Given the description of an element on the screen output the (x, y) to click on. 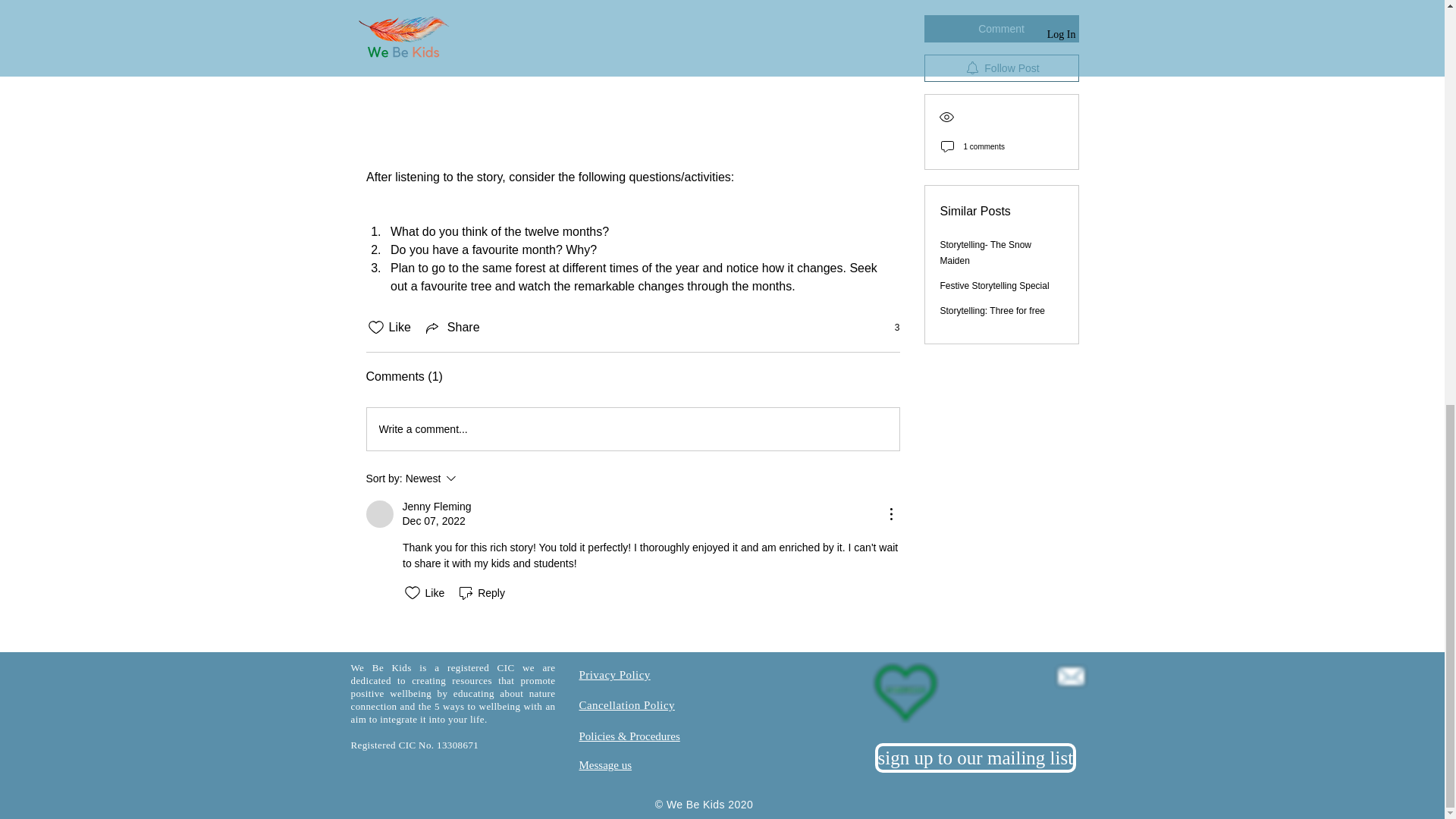
Jenny Fleming (435, 506)
Message us (471, 478)
Jenny Fleming (605, 765)
Privacy Policy (379, 513)
Cancellation Policy (614, 674)
Share (627, 705)
Like (451, 327)
Write a comment... (387, 327)
3 (632, 428)
Reply (888, 327)
